Given the description of an element on the screen output the (x, y) to click on. 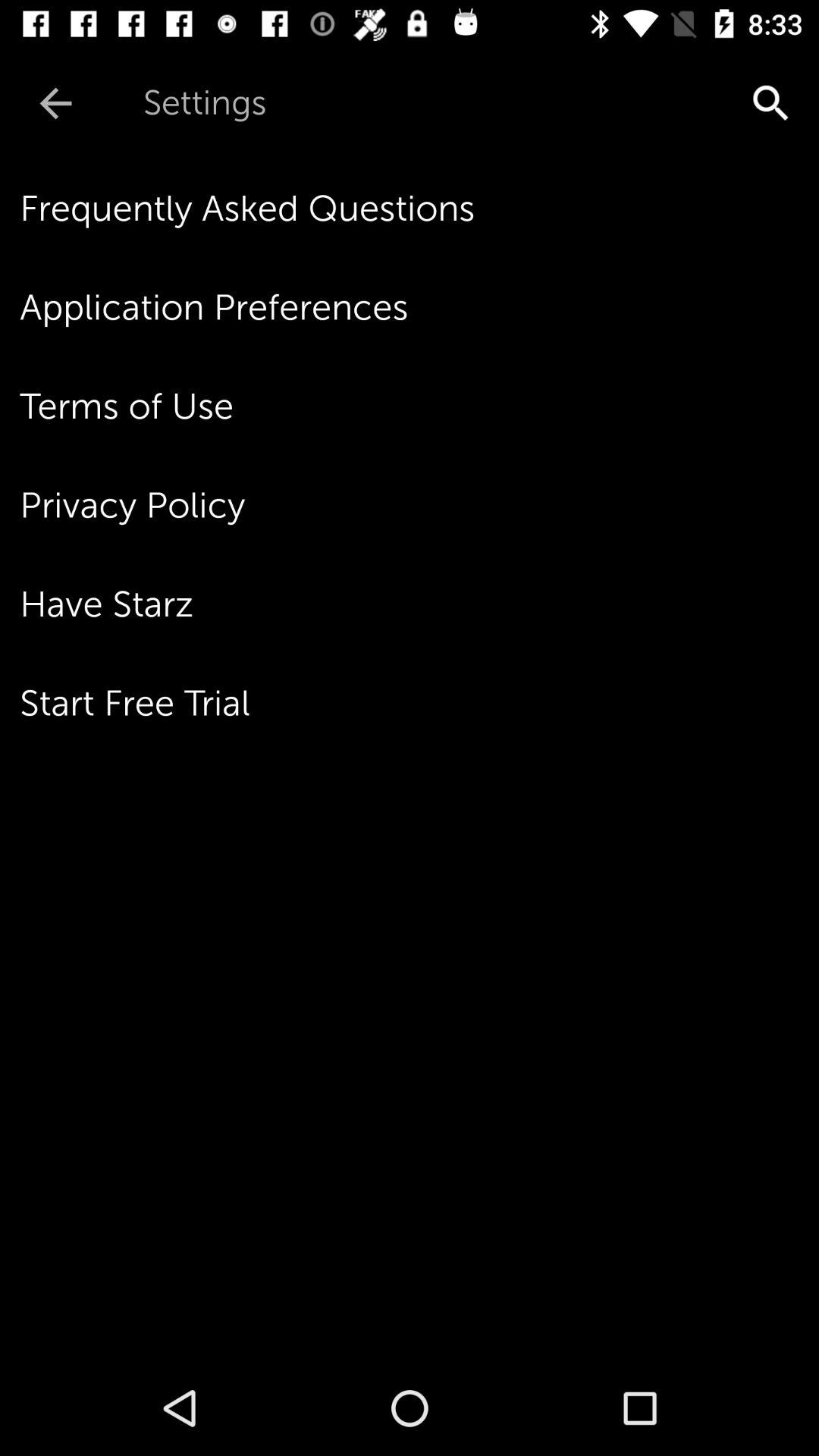
open the icon next to settings item (55, 103)
